Given the description of an element on the screen output the (x, y) to click on. 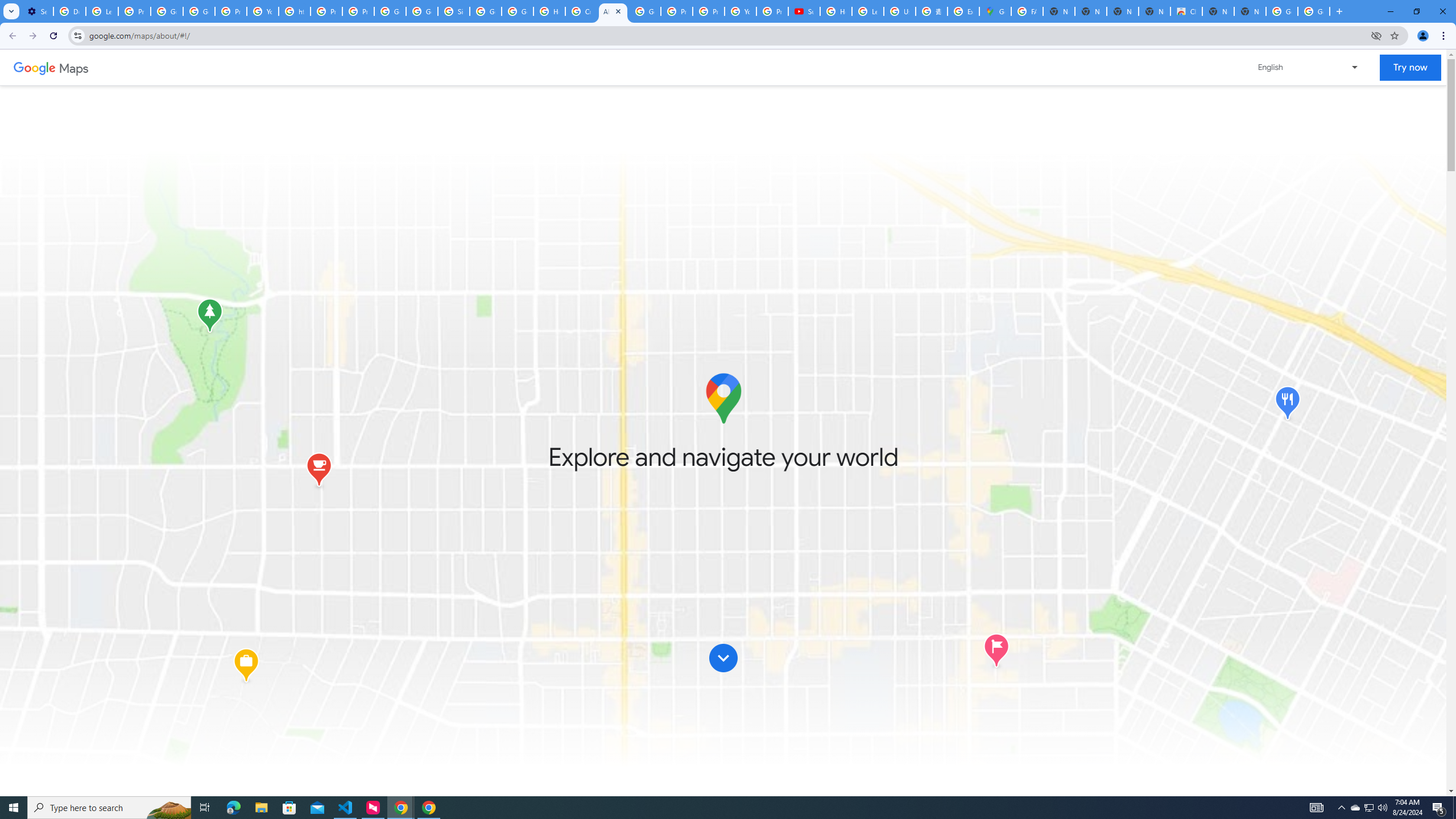
Explore new street-level details - Google Maps Help (963, 11)
Delete photos & videos - Computer - Google Photos Help (69, 11)
Sign in - Google Accounts (453, 11)
Subscriptions - YouTube (804, 11)
YouTube (262, 11)
Maps (73, 67)
Google Account Help (166, 11)
